Given the description of an element on the screen output the (x, y) to click on. 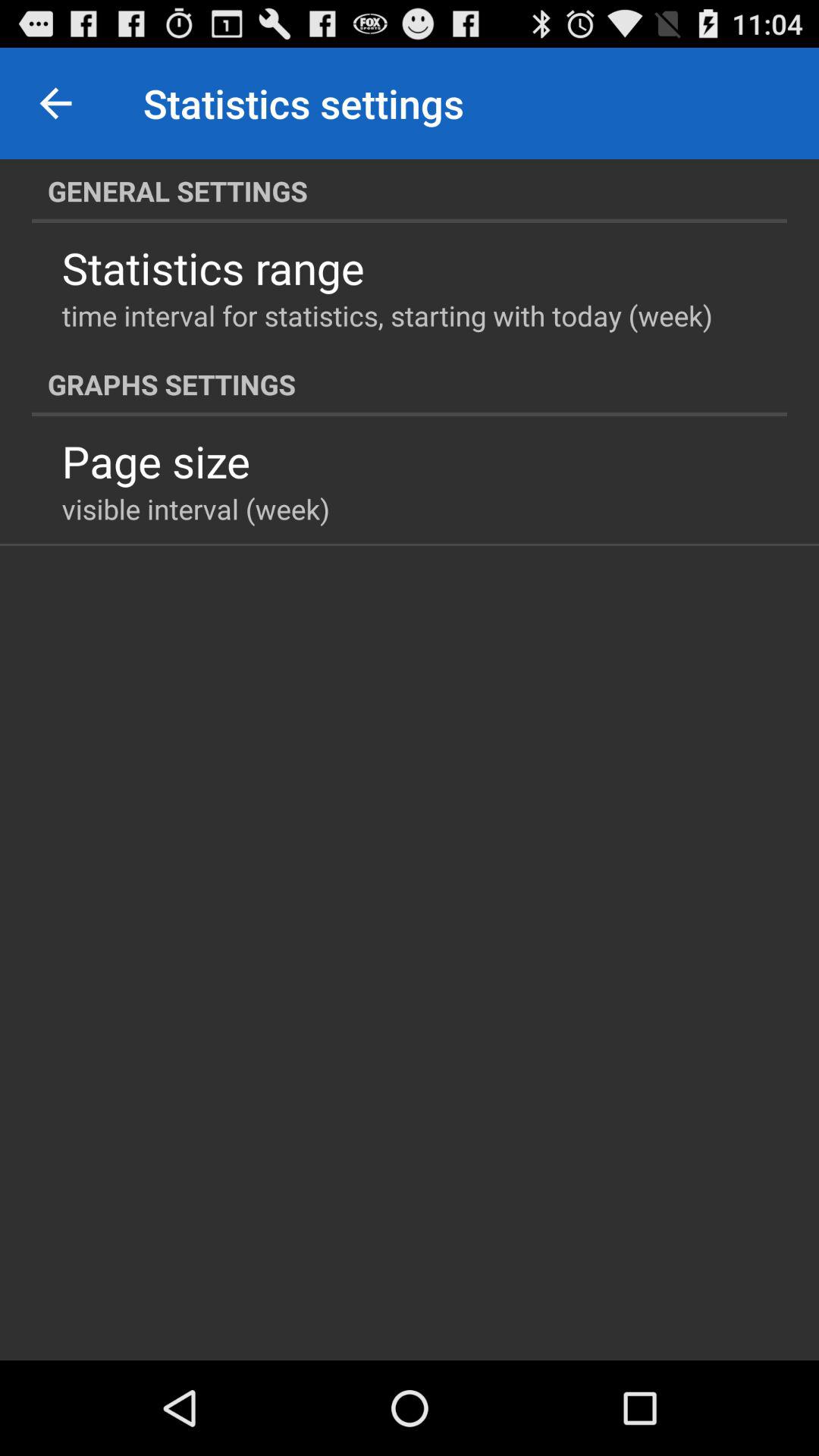
choose icon next to the statistics settings (55, 103)
